Given the description of an element on the screen output the (x, y) to click on. 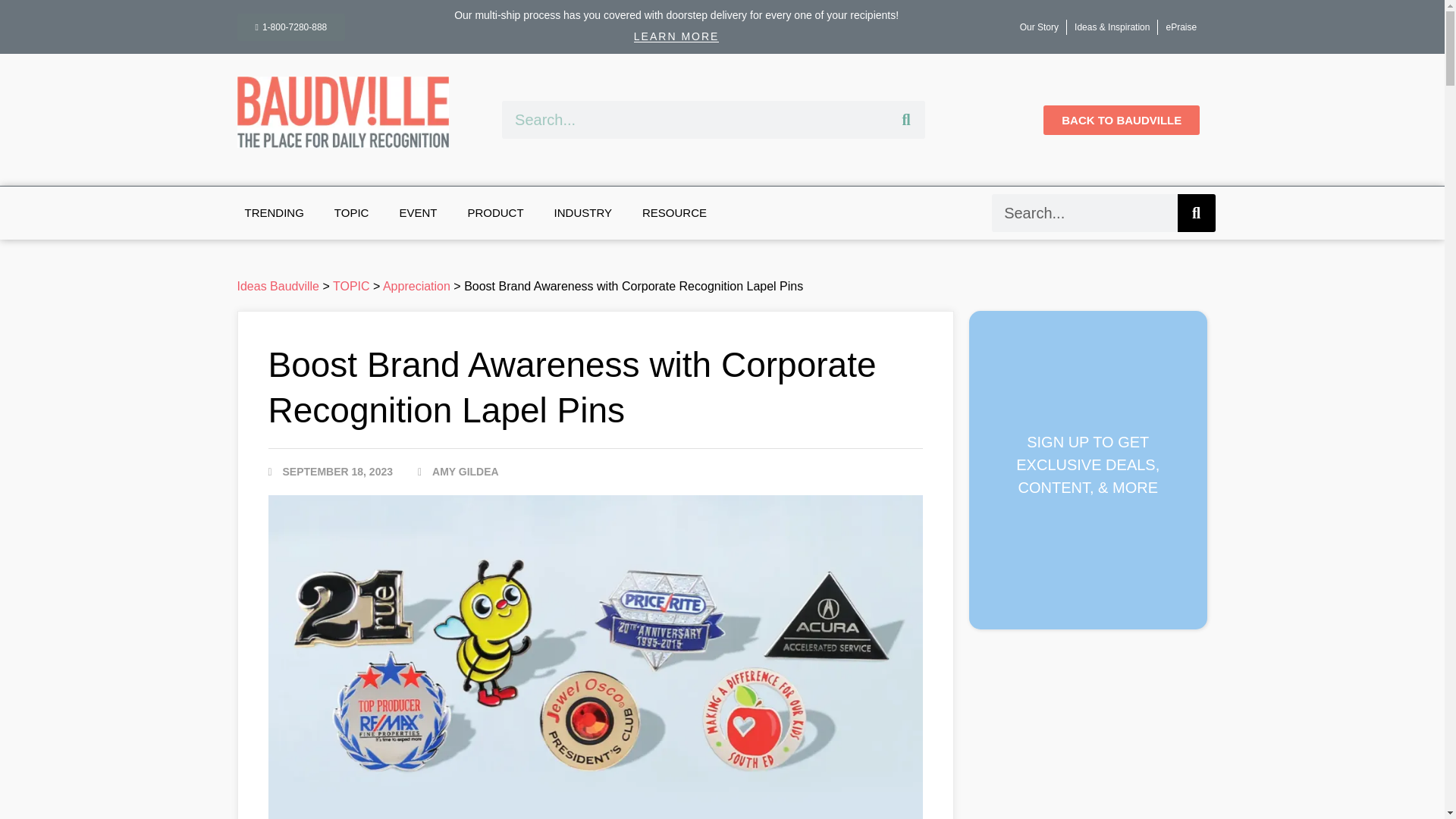
1-800-7280-888 (290, 26)
LEARN MORE (676, 36)
ePraise (1180, 27)
Go to Ideas Baudville. (276, 286)
Go to the Appreciation Category archives. (415, 286)
Our Story (1038, 27)
Go to the TOPIC Category archives. (351, 286)
